Given the description of an element on the screen output the (x, y) to click on. 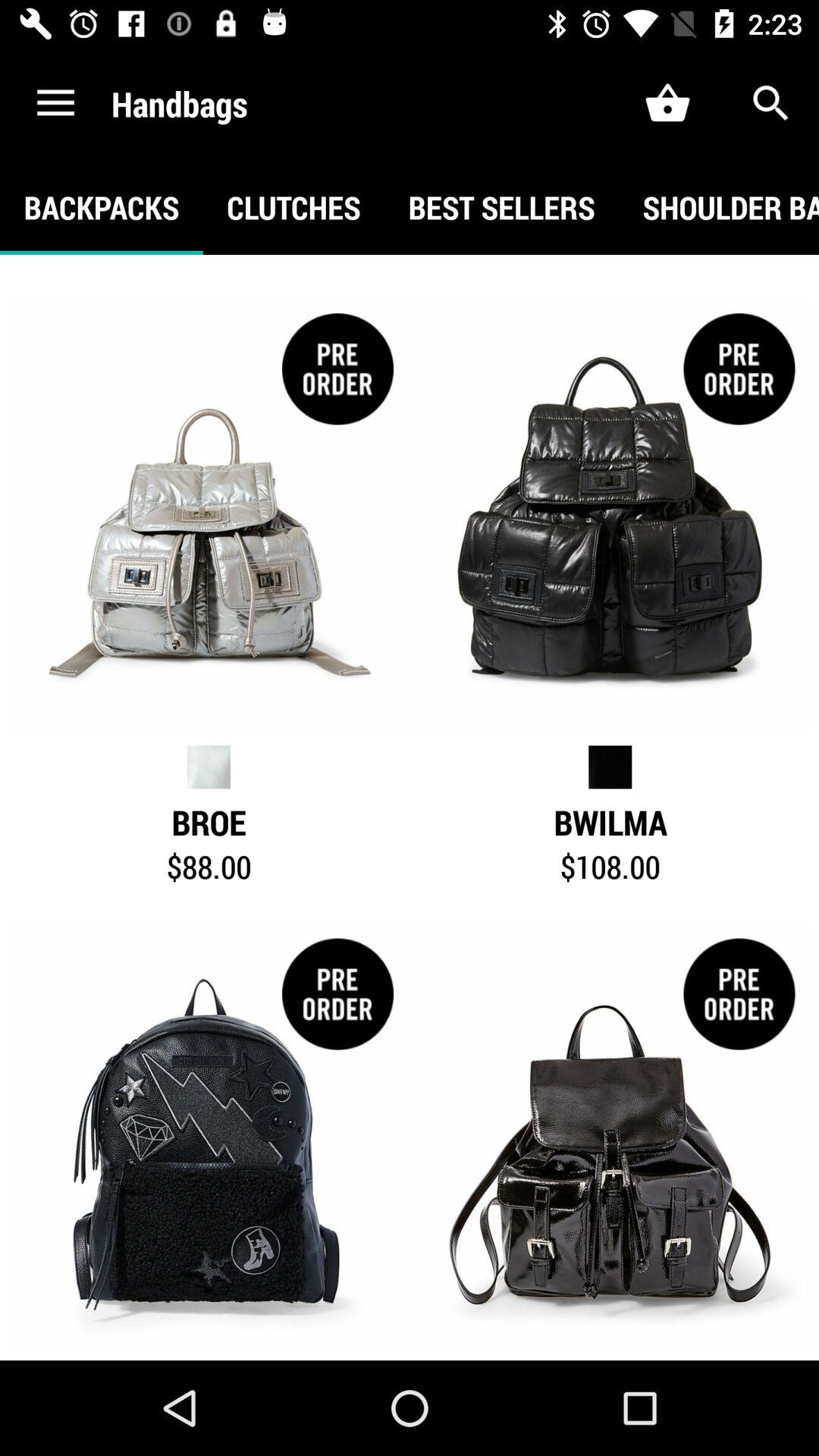
choose the icon above the backpacks icon (55, 103)
